Given the description of an element on the screen output the (x, y) to click on. 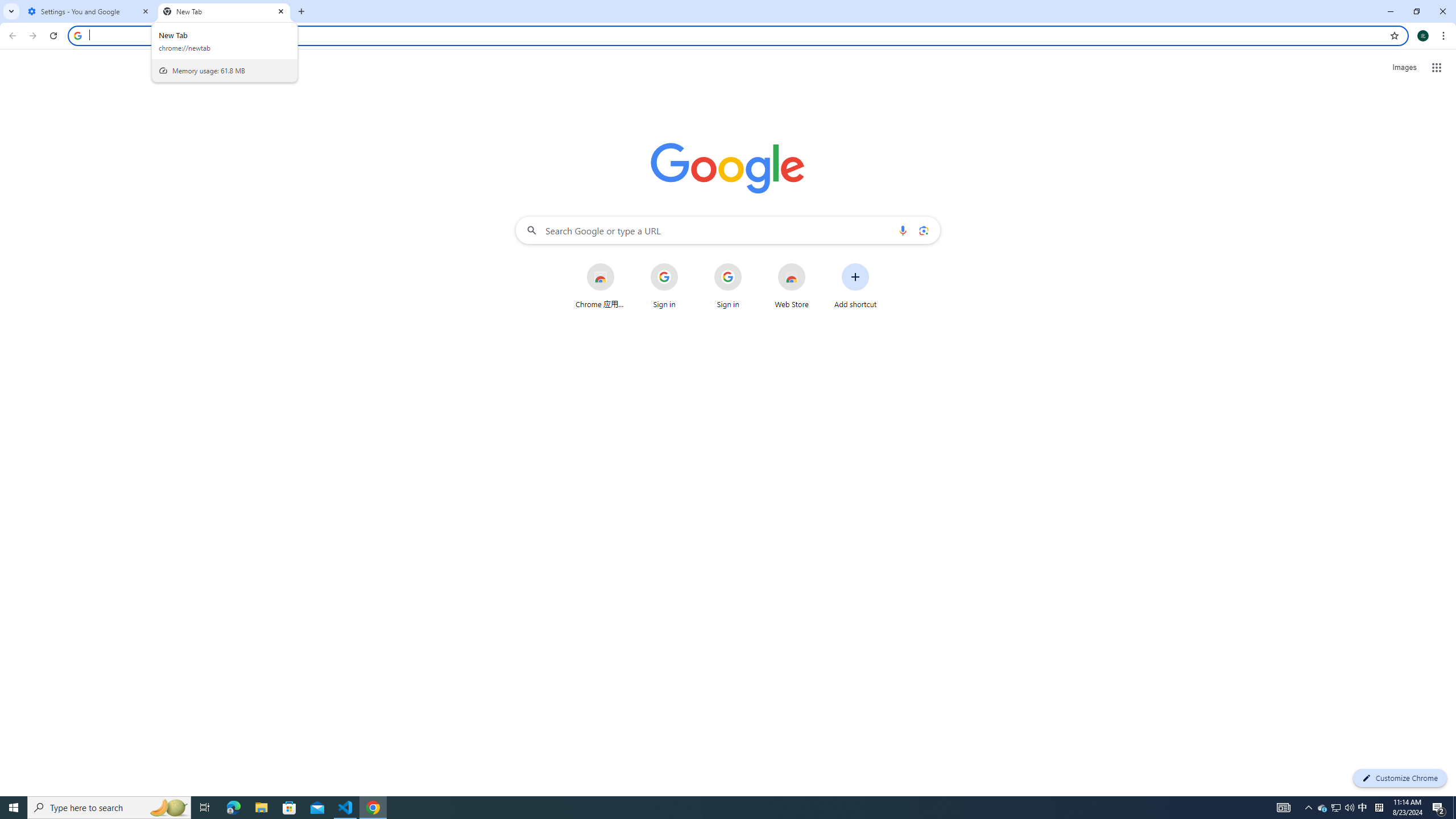
New Tab (224, 11)
Search by image (922, 230)
Restore (1416, 11)
Bookmark this tab (1393, 35)
Chrome (1445, 35)
Minimize (1390, 11)
Web Store (792, 285)
Back (10, 35)
Settings - You and Google (88, 11)
Add shortcut (855, 285)
